Given the description of an element on the screen output the (x, y) to click on. 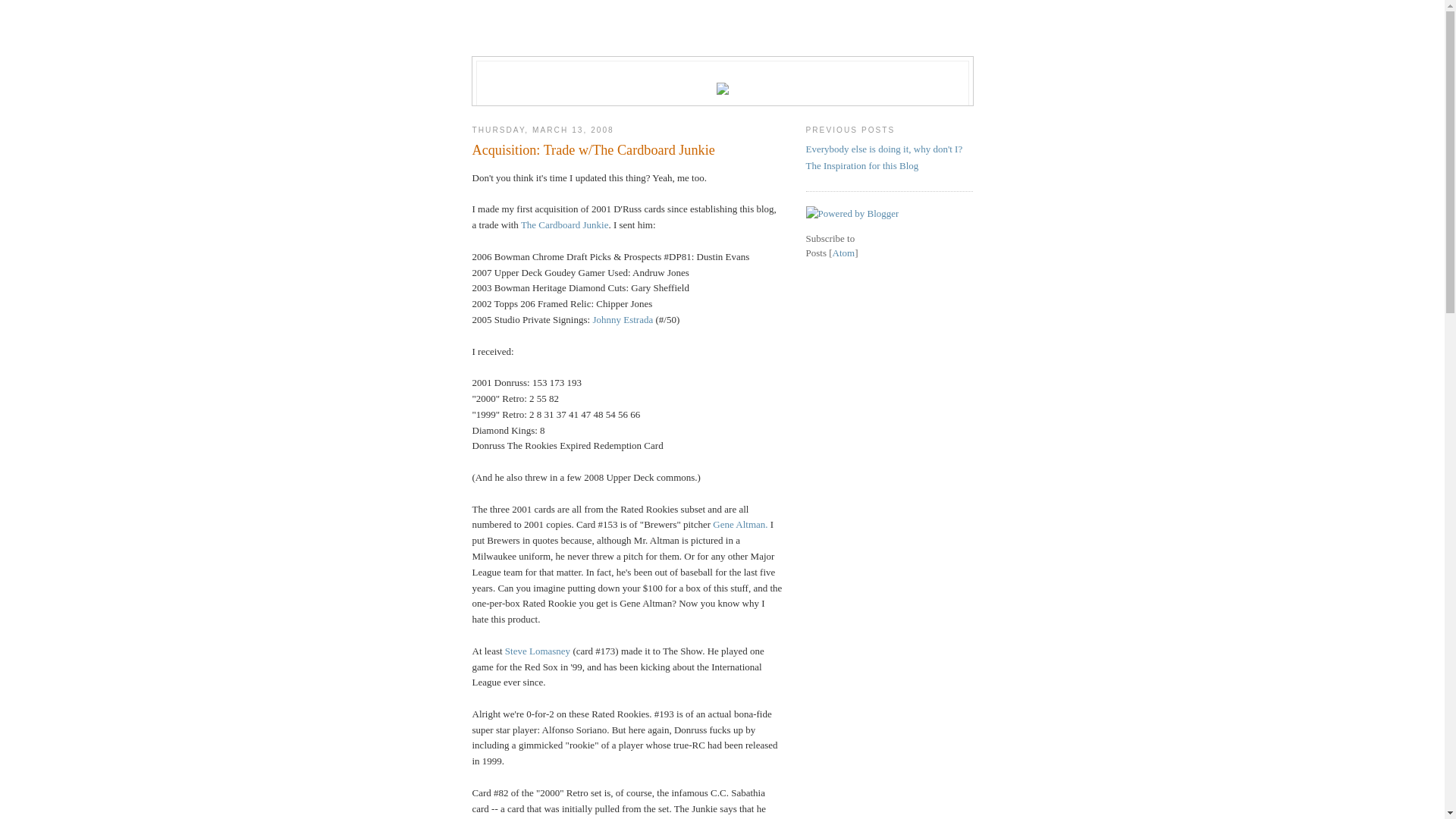
Steve Lomasney Element type: text (537, 650)
Advertisement Element type: hover (888, 497)
The Inspiration for this Blog Element type: text (861, 165)
Johnny Estrada Element type: text (622, 319)
Gene Altman. Element type: text (739, 524)
Blogger Navigation and Search Element type: hover (722, 41)
The Cardboard Junkie Element type: text (564, 224)
Everybody else is doing it, why don't I? Element type: text (883, 148)
Atom Element type: text (843, 252)
